Given the description of an element on the screen output the (x, y) to click on. 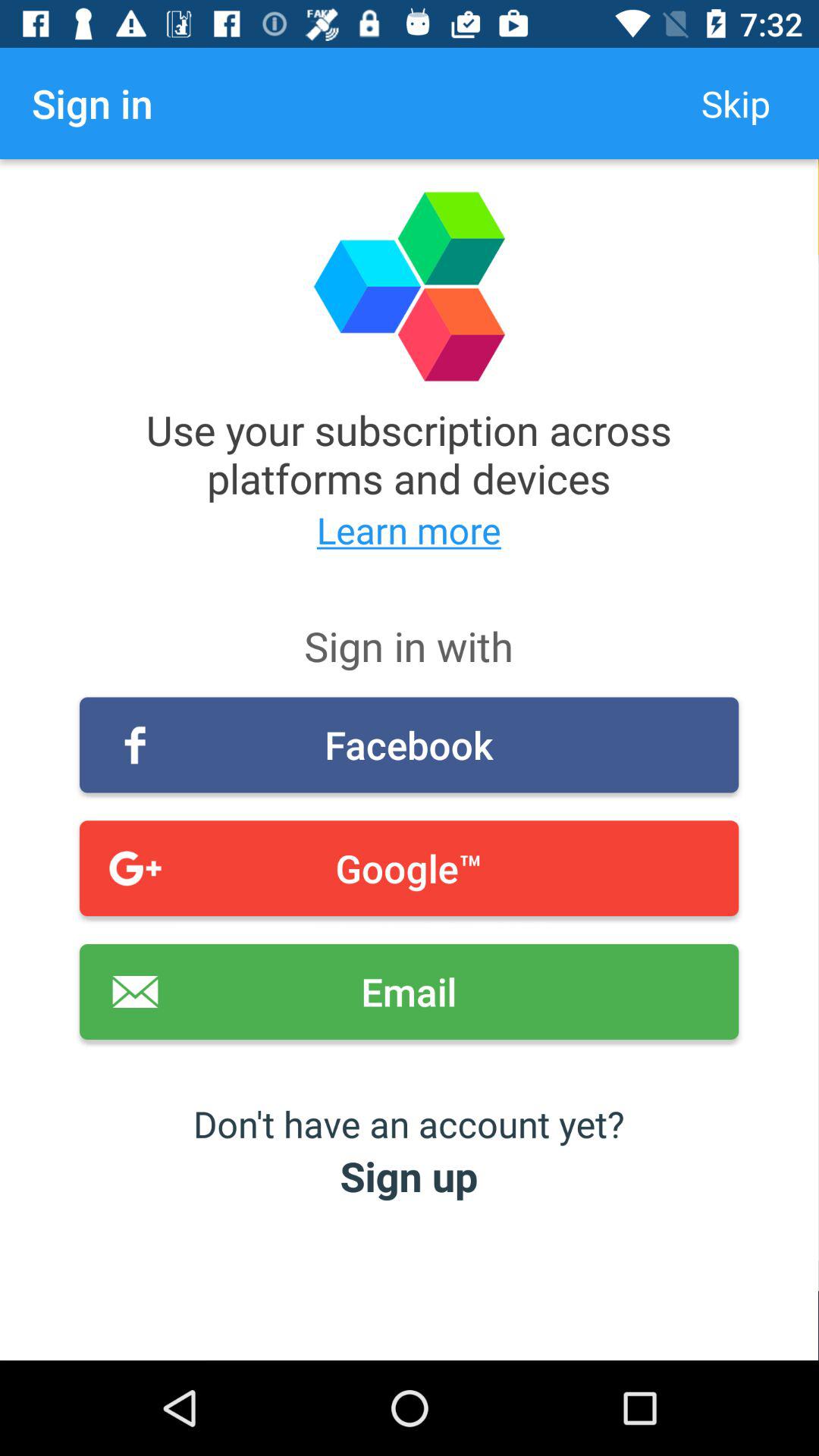
choose the skip icon (735, 103)
